Given the description of an element on the screen output the (x, y) to click on. 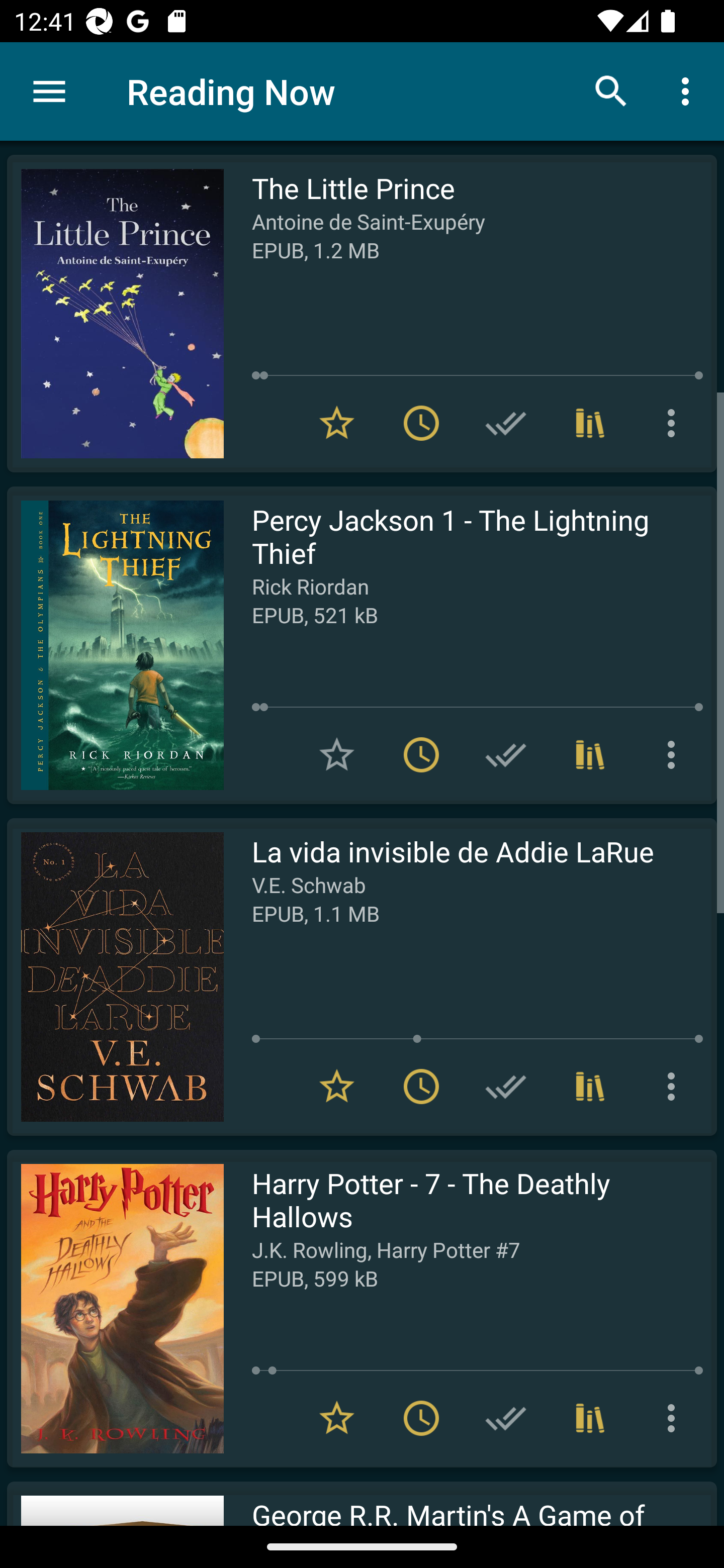
Menu (49, 91)
Search books & documents (611, 90)
More options (688, 90)
Read The Little Prince (115, 313)
Remove from Favorites (336, 423)
Remove from To read (421, 423)
Add to Have read (505, 423)
Collections (1) (590, 423)
More options (674, 423)
Read Percy Jackson 1 - The Lightning Thief (115, 645)
Add to Favorites (336, 753)
Remove from To read (421, 753)
Add to Have read (505, 753)
Collections (1) (590, 753)
More options (674, 753)
Read La vida invisible de Addie LaRue (115, 976)
Remove from Favorites (336, 1086)
